Given the description of an element on the screen output the (x, y) to click on. 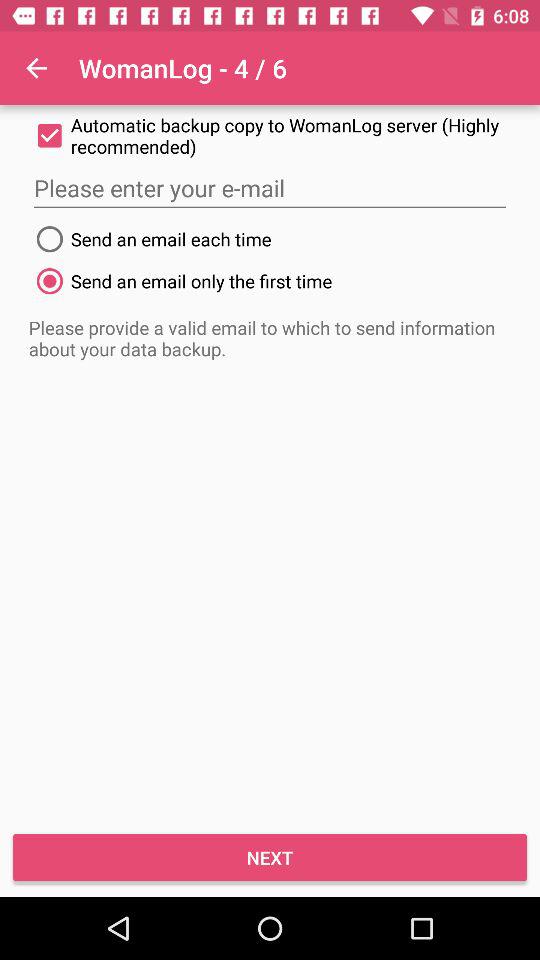
select automatic backup copy (269, 135)
